Given the description of an element on the screen output the (x, y) to click on. 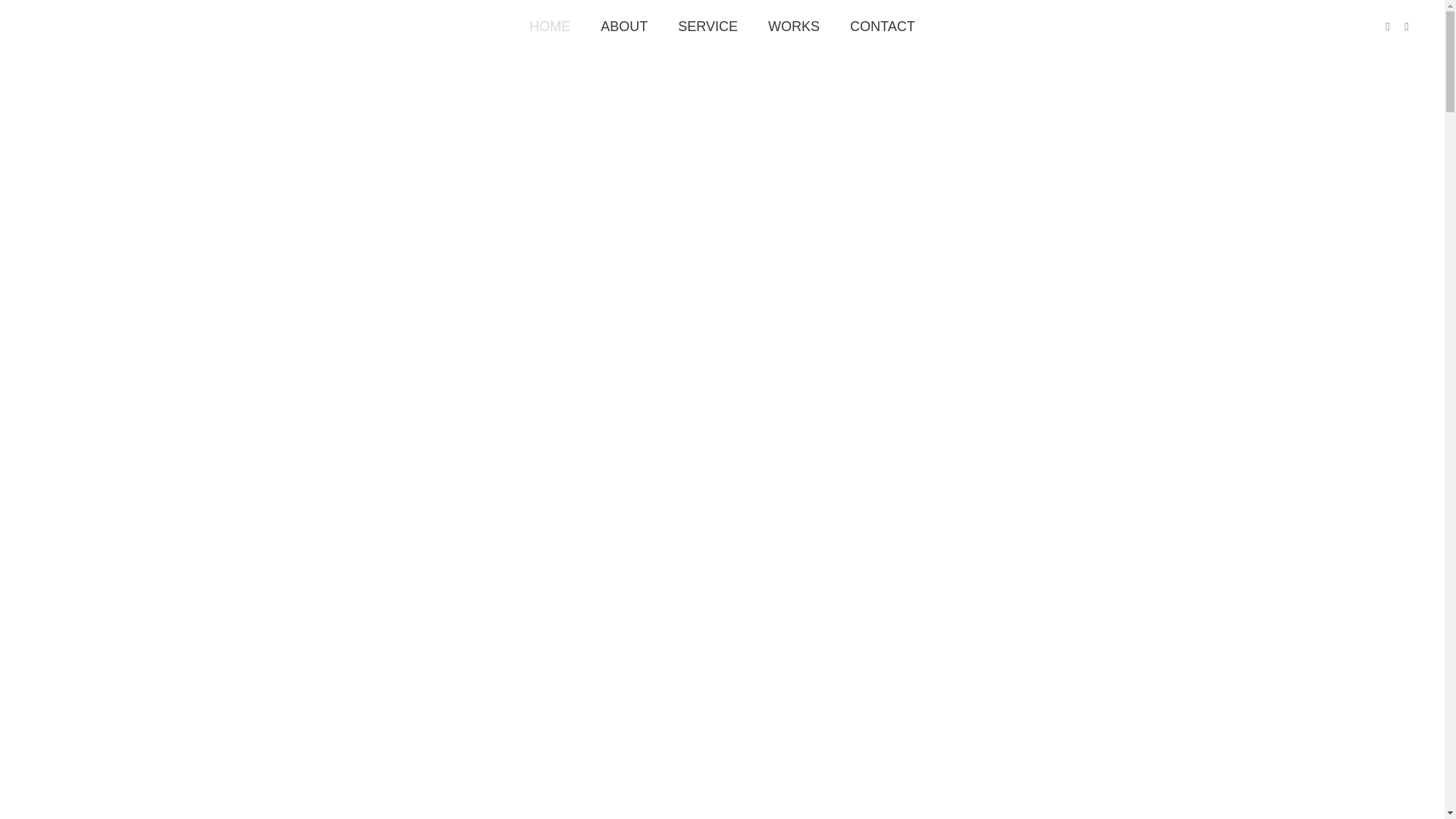
WORKS Element type: text (793, 26)
CONTACT Element type: text (882, 26)
SERVICE Element type: text (707, 26)
HOME Element type: text (549, 26)
ABOUT Element type: text (623, 26)
